Given the description of an element on the screen output the (x, y) to click on. 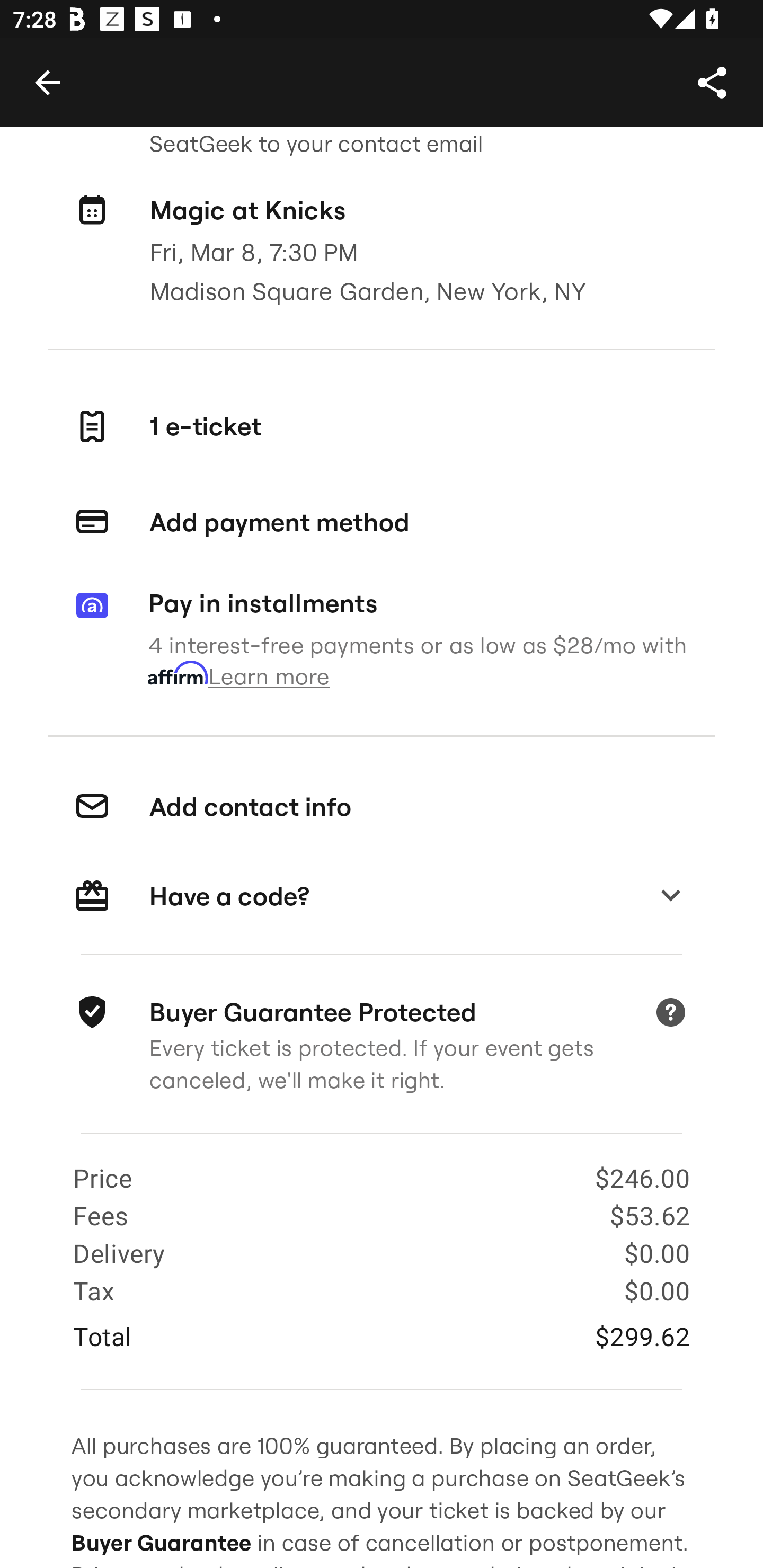
Expand image to fullscreen (57, 69)
Share (711, 81)
1 e-ticket (381, 427)
Add payment method (381, 522)
Add contact info (381, 806)
Have a code? Expand to show options (381, 895)
